Given the description of an element on the screen output the (x, y) to click on. 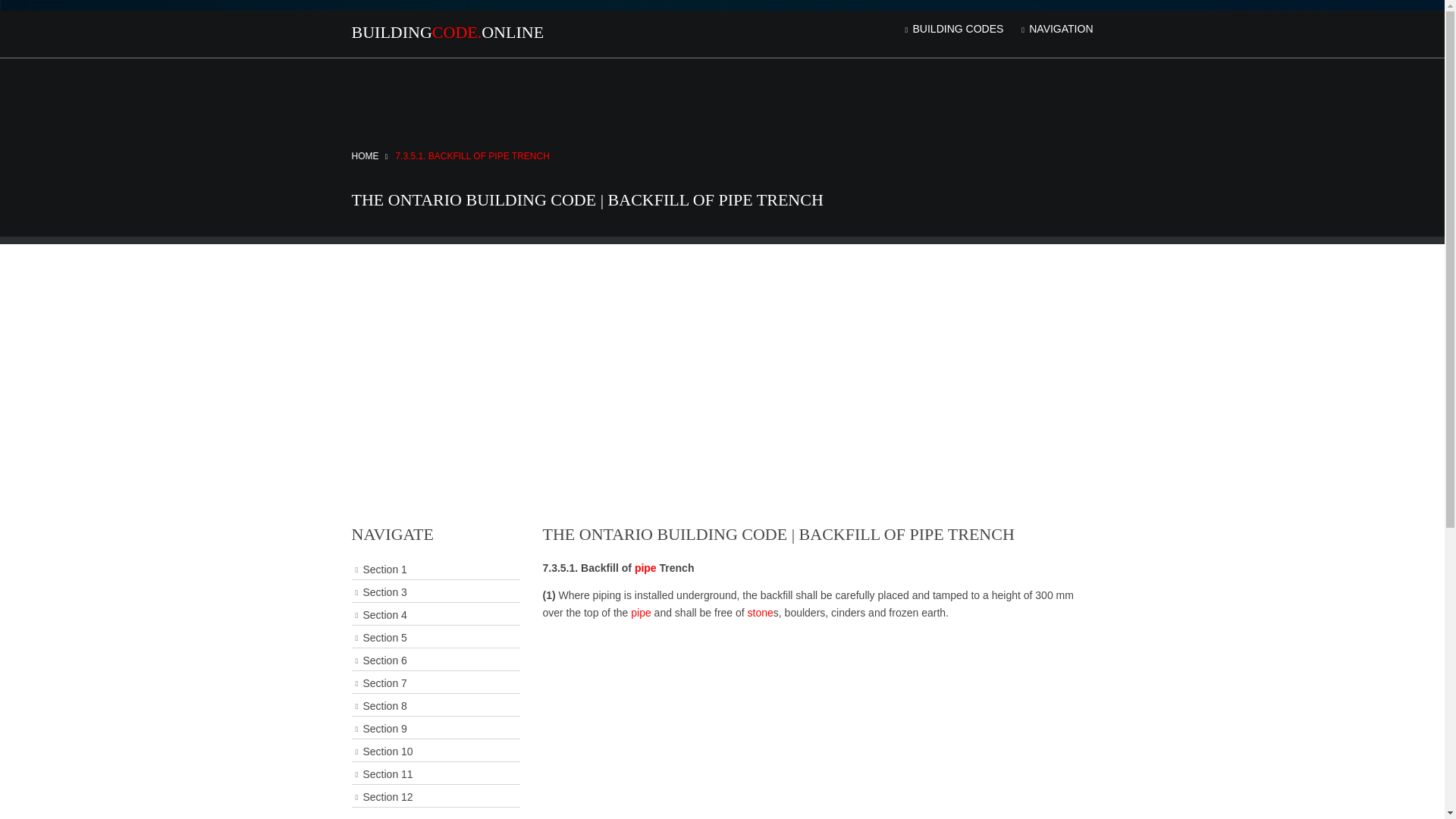
Section 4 (435, 615)
stone (760, 612)
Section 3 (435, 592)
Section 7 (435, 683)
pipe (640, 612)
NAVIGATION (1055, 28)
Section 6 (435, 660)
Section 1 (435, 569)
Section 10 (435, 752)
BUILDING CODES (952, 28)
Section 9 (435, 729)
Plubing leak repair in Toronto (645, 567)
Section 12 (435, 797)
Backfill of Pipe Trench (471, 155)
